Given the description of an element on the screen output the (x, y) to click on. 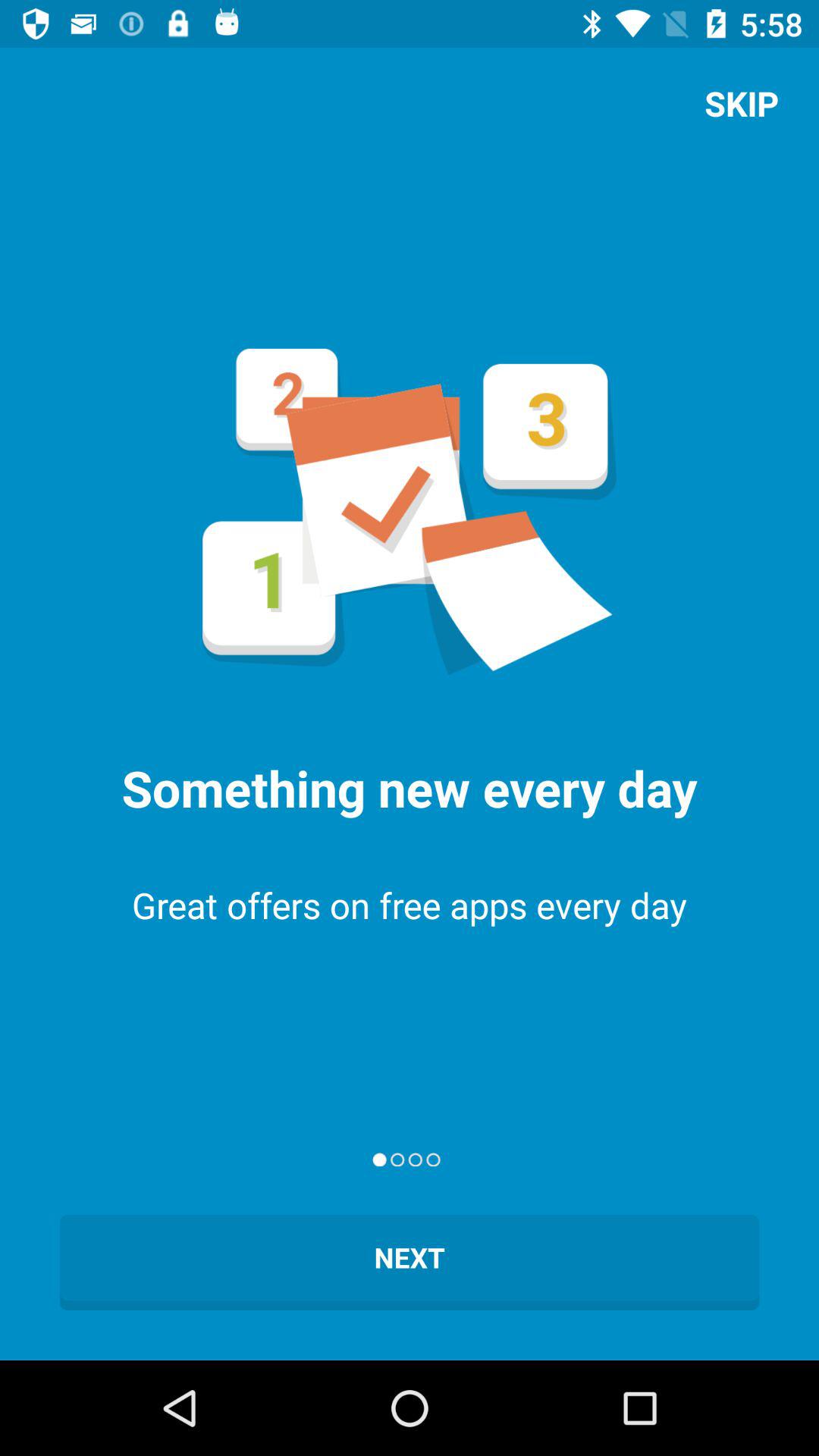
launch skip app (741, 103)
